Given the description of an element on the screen output the (x, y) to click on. 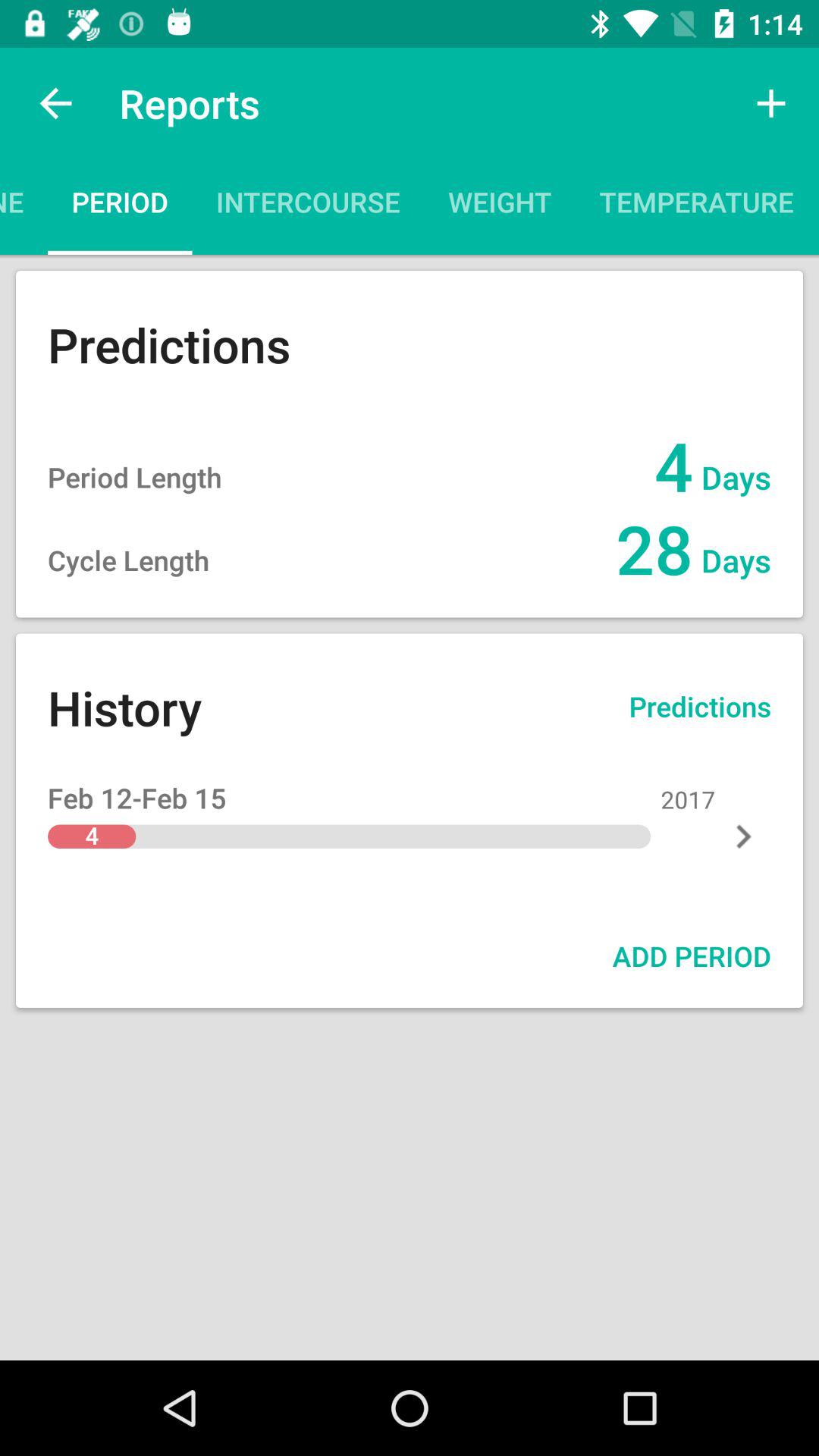
launch the icon to the right of weight item (696, 206)
